Given the description of an element on the screen output the (x, y) to click on. 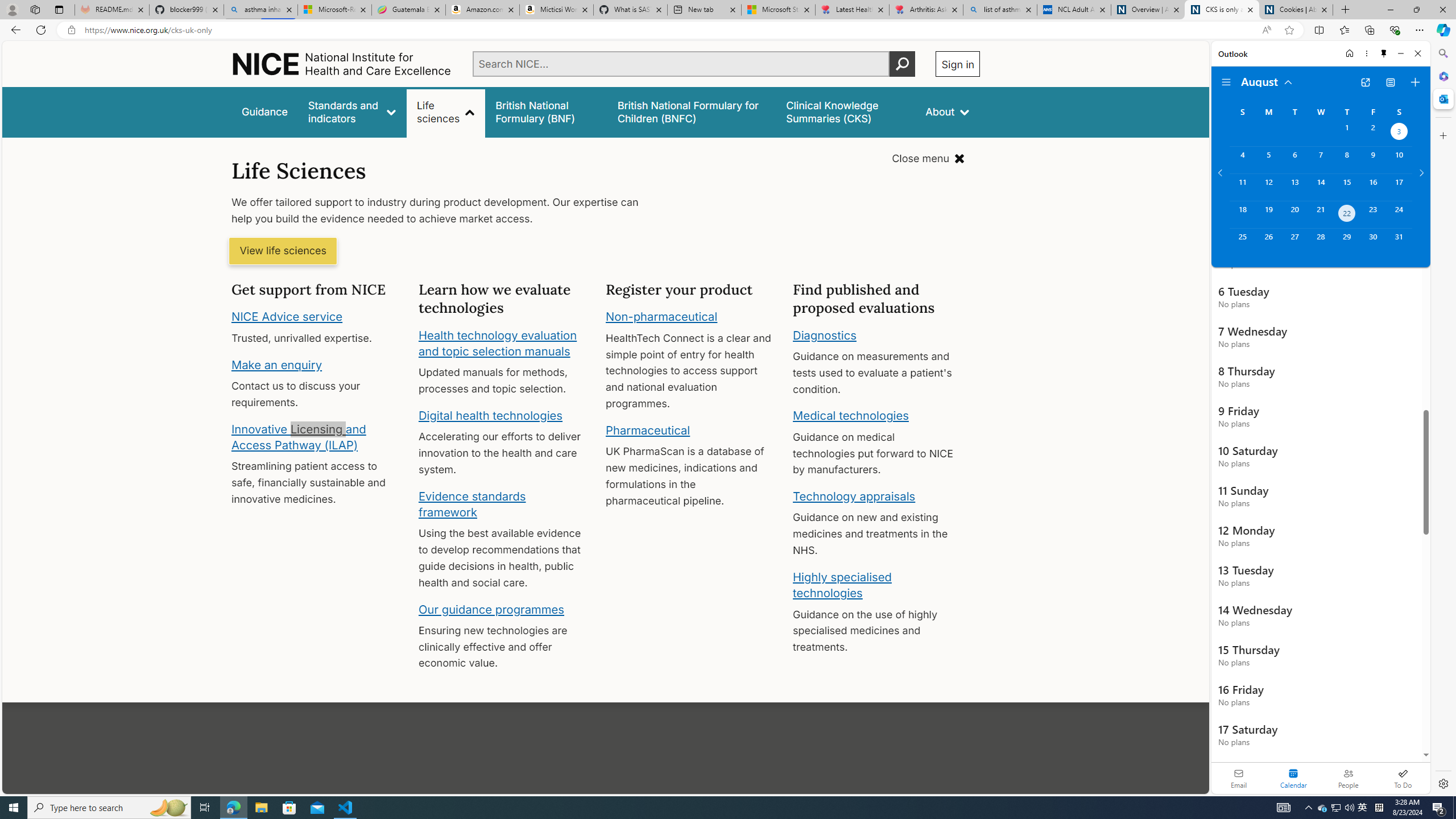
Friday, August 30, 2024.  (1372, 241)
Friday, August 9, 2024.  (1372, 159)
Email (1238, 777)
Friday, August 16, 2024.  (1372, 186)
Our guidance programmes (490, 608)
Thursday, August 22, 2024. Today.  (1346, 214)
